Given the description of an element on the screen output the (x, y) to click on. 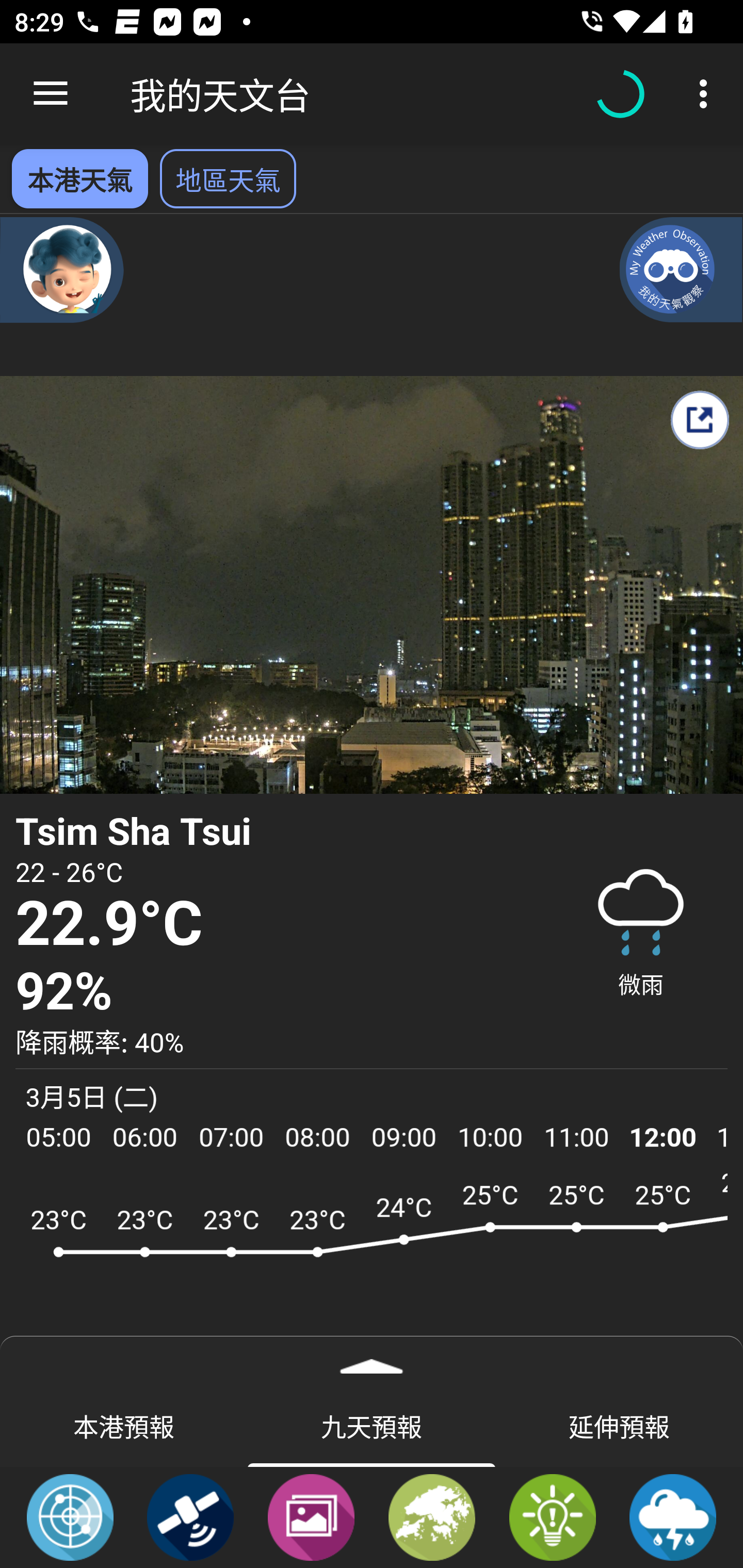
向上瀏覽 (50, 93)
更多選項 (706, 93)
本港天氣 已選擇 本港天氣 (79, 178)
地區天氣 選擇 地區天氣 (227, 178)
聊天機械人 (62, 269)
我的天氣觀察 (680, 269)
分享我的天氣報告 (699, 420)
22.9°C 氣溫22.9攝氏度 (276, 924)
92% 相對濕度百分之92 (276, 991)
九天自動天氣預報 圖片
輕按進入內頁，即可了解詳細資料。 ARWF (371, 1264)
展開 (371, 1358)
本港預報 (123, 1424)
延伸預報 (619, 1424)
雷達圖像 (69, 1516)
衛星圖像 (190, 1516)
天氣照片 (310, 1516)
分區天氣 (431, 1516)
天氣提示 (551, 1516)
定點降雨及閃電預報 (672, 1516)
